Given the description of an element on the screen output the (x, y) to click on. 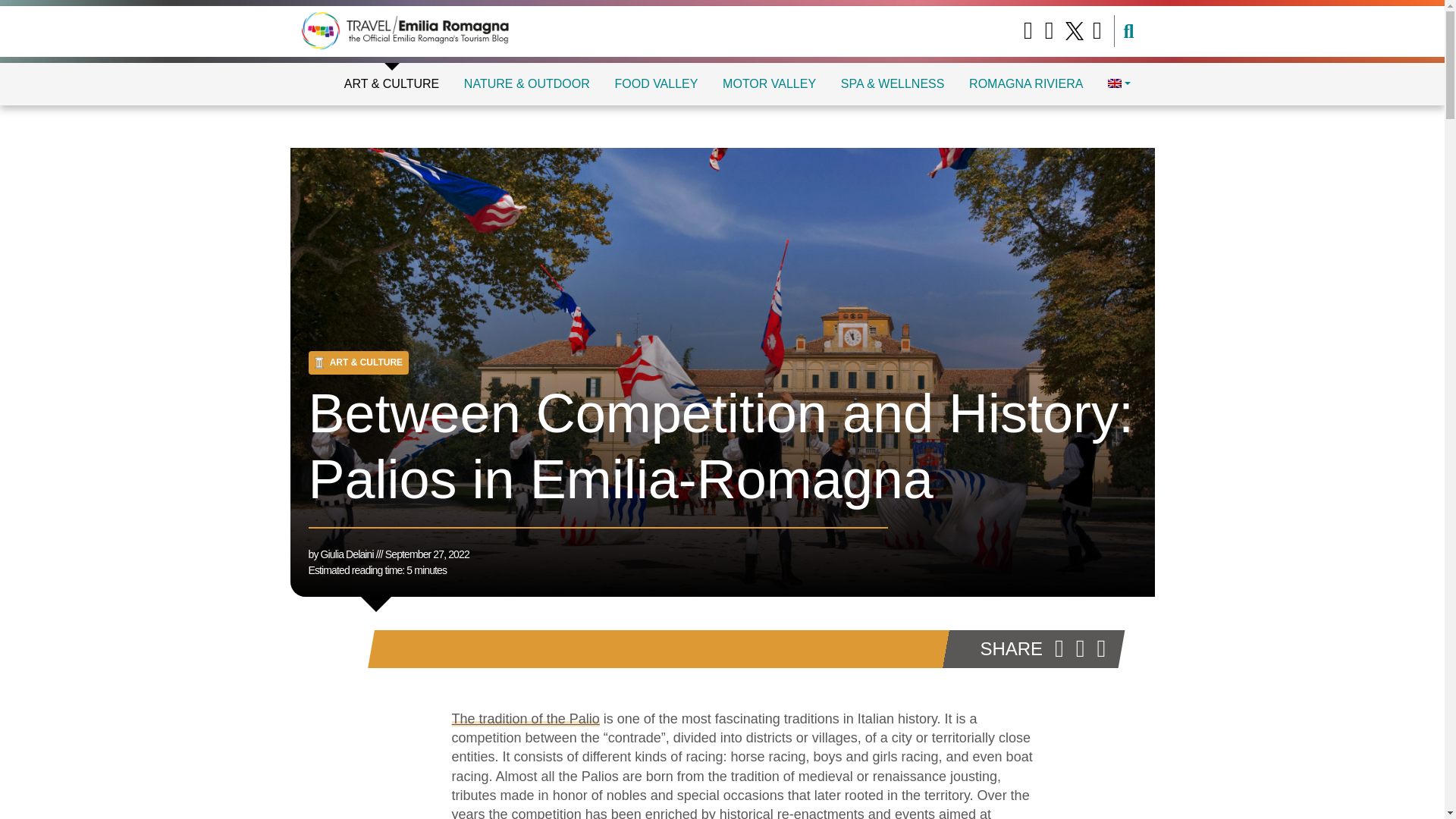
FOOD VALLEY (655, 83)
ROMAGNA RIVIERA (1025, 83)
Food Valley (655, 83)
Posts by Giulia Delaini (347, 553)
Giulia Delaini (347, 553)
The tradition of the Palio (525, 718)
Romagna Riviera (1025, 83)
MOTOR VALLEY (769, 83)
Motor Valley (769, 83)
